Given the description of an element on the screen output the (x, y) to click on. 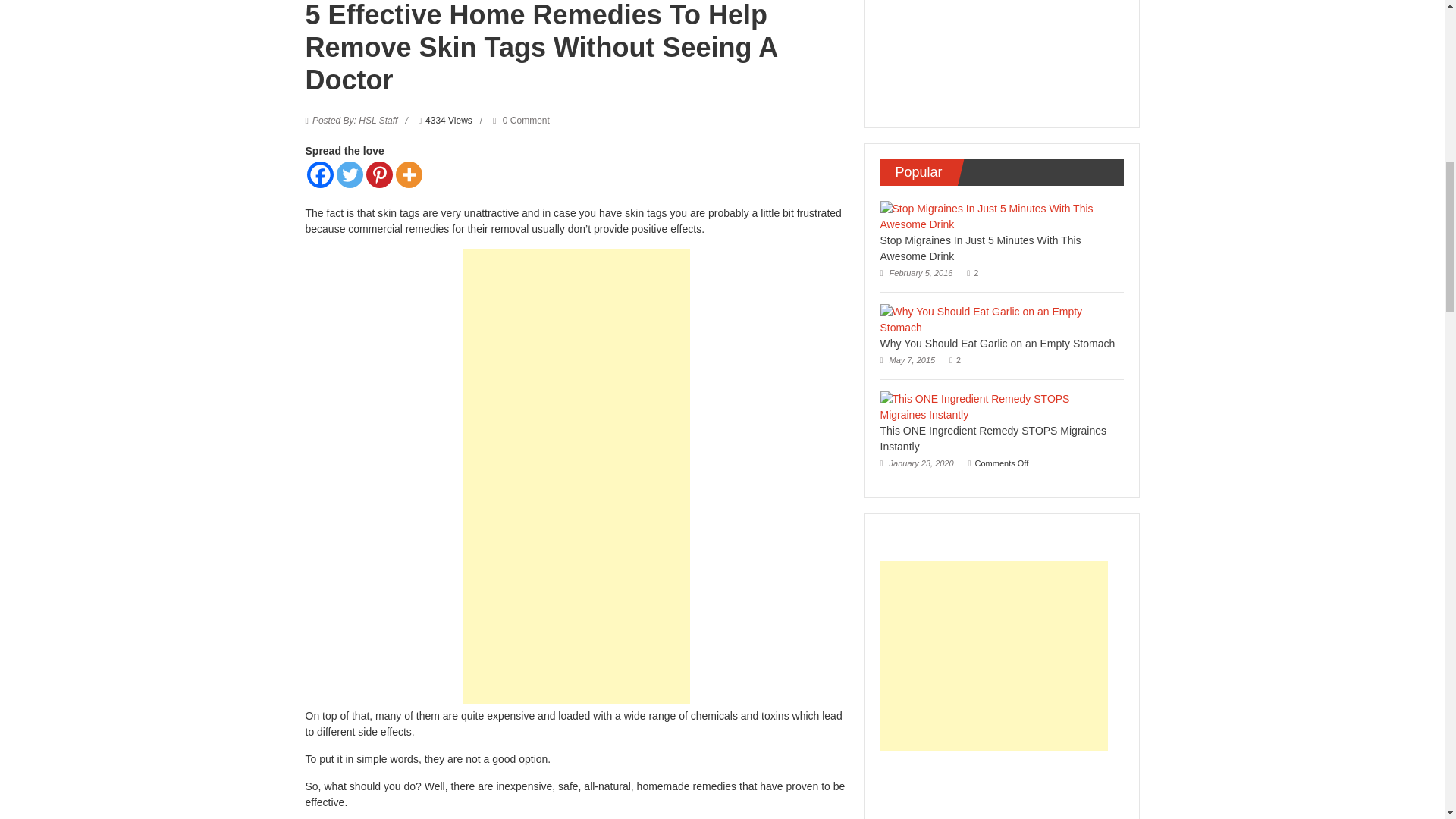
0 Comment (521, 120)
More (409, 174)
Posted By: HSL Staff (355, 120)
May 7, 2015 (906, 359)
Why You Should Eat Garlic on an Empty Stomach (997, 343)
Facebook (319, 174)
Stop Migraines In Just 5 Minutes With This Awesome Drink (979, 248)
Pinterest (378, 174)
This ONE Ingredient Remedy STOPS Migraines Instantly (992, 438)
HSL Staff (355, 120)
